Given the description of an element on the screen output the (x, y) to click on. 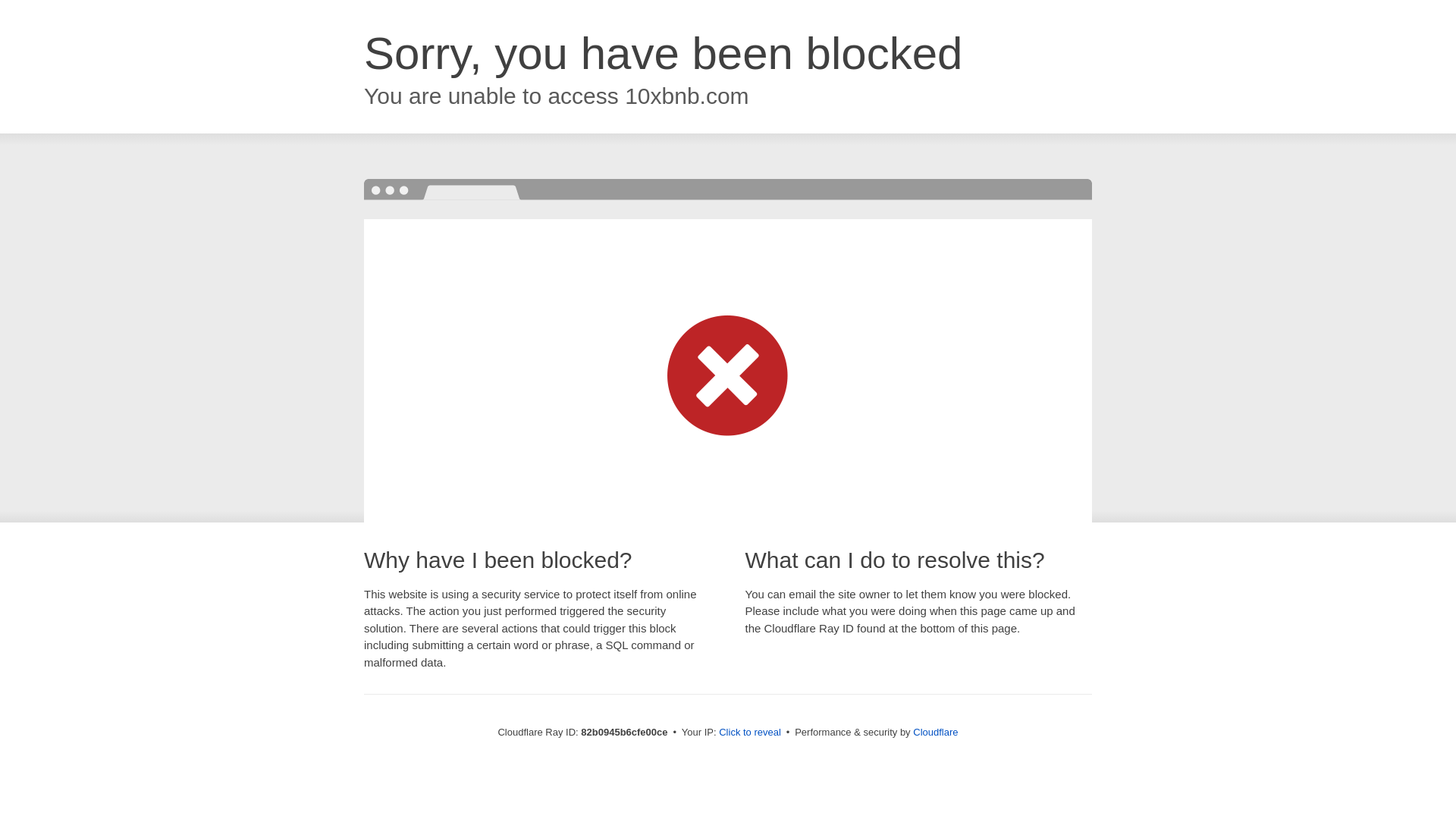
Click to reveal Element type: text (749, 732)
Cloudflare Element type: text (935, 731)
